Given the description of an element on the screen output the (x, y) to click on. 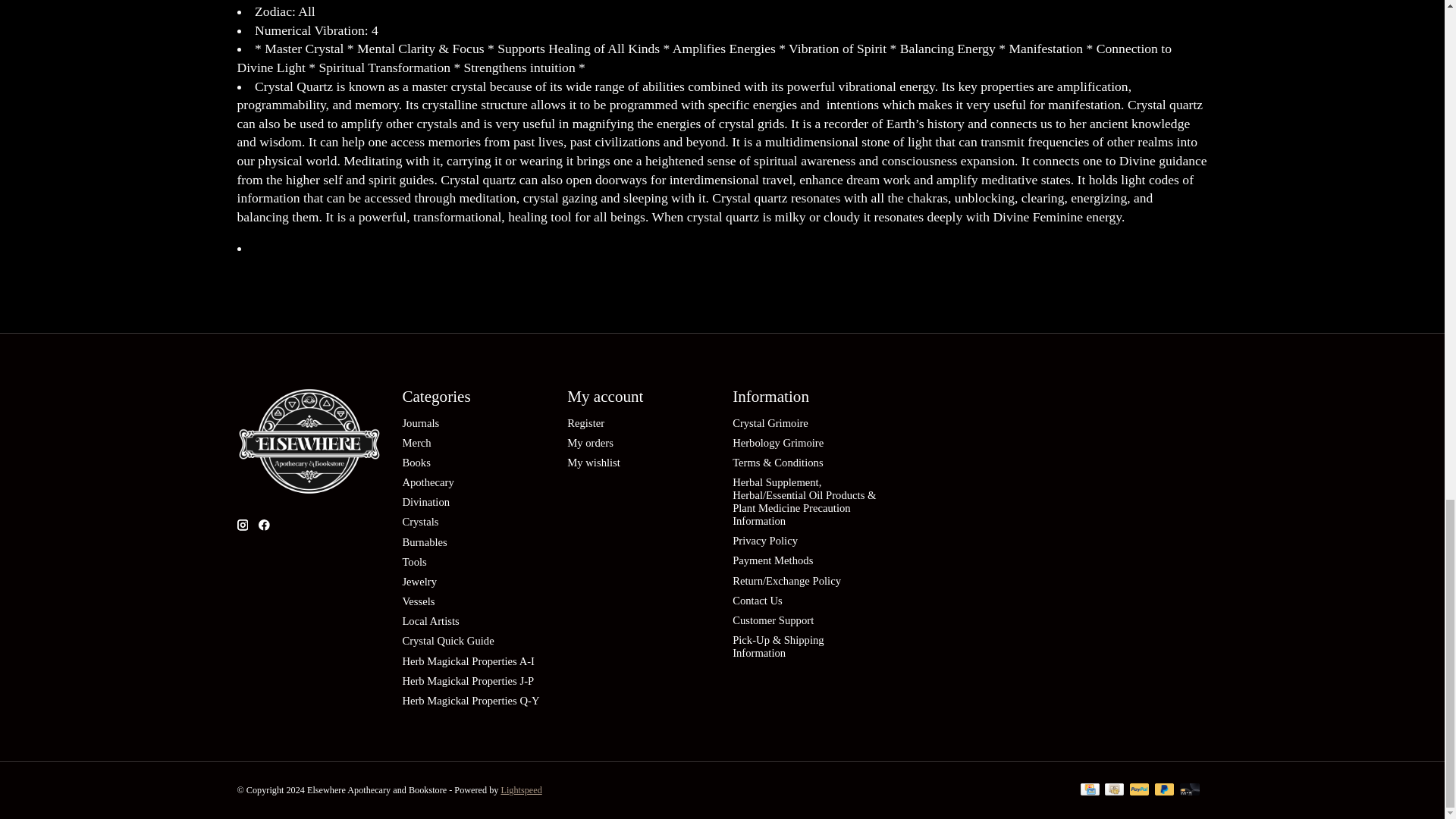
My orders (589, 442)
Crystal Grimoire (770, 422)
Privacy Policy (764, 540)
My wishlist (593, 462)
Register (585, 422)
Herbology Grimoire (778, 442)
Payment Methods (772, 560)
